Given the description of an element on the screen output the (x, y) to click on. 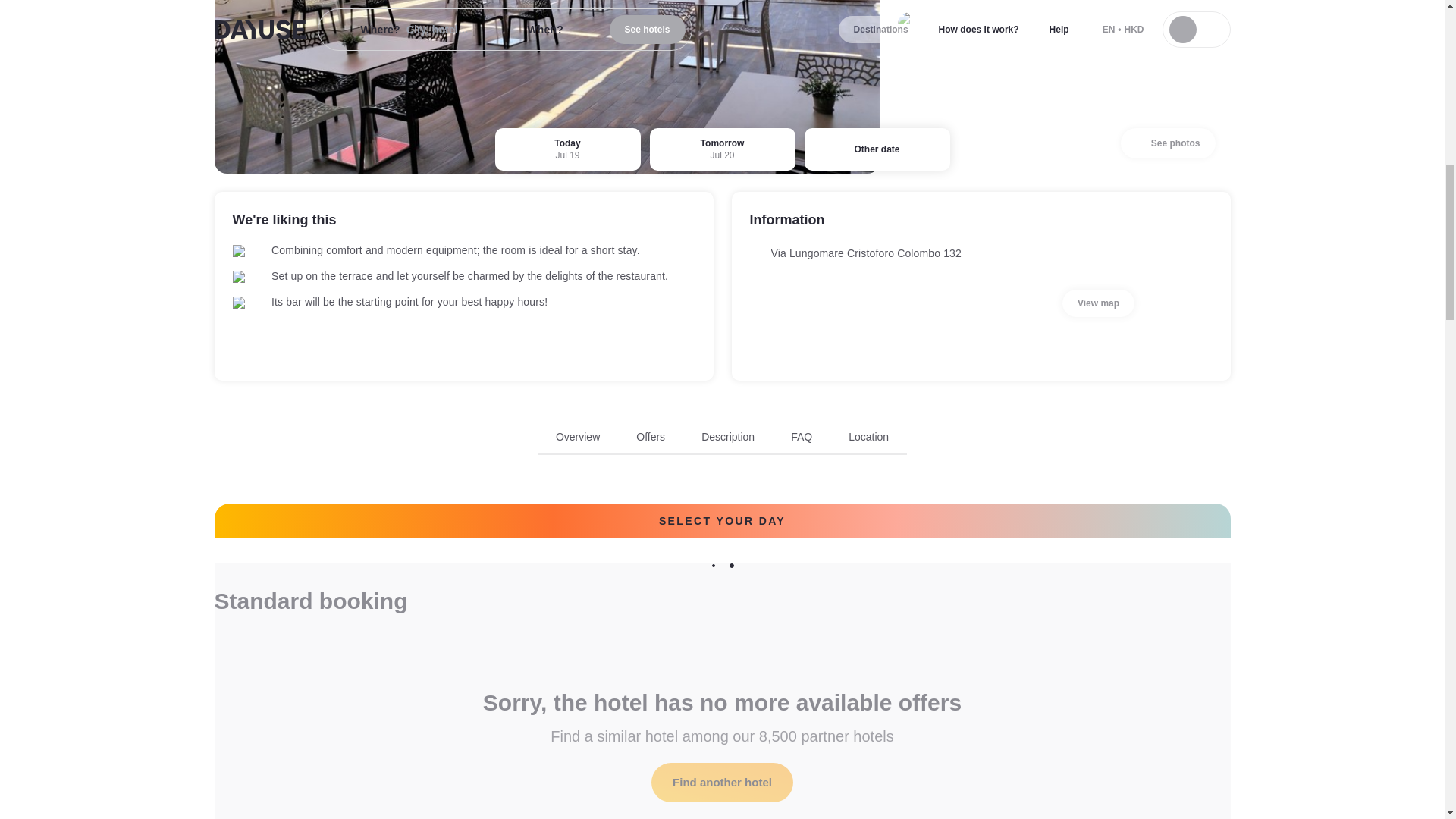
View map (1098, 302)
Location (868, 436)
Overview (577, 436)
Offers (650, 436)
FAQ (801, 436)
Find another hotel (721, 782)
See photos (1168, 142)
Description (722, 442)
